Given the description of an element on the screen output the (x, y) to click on. 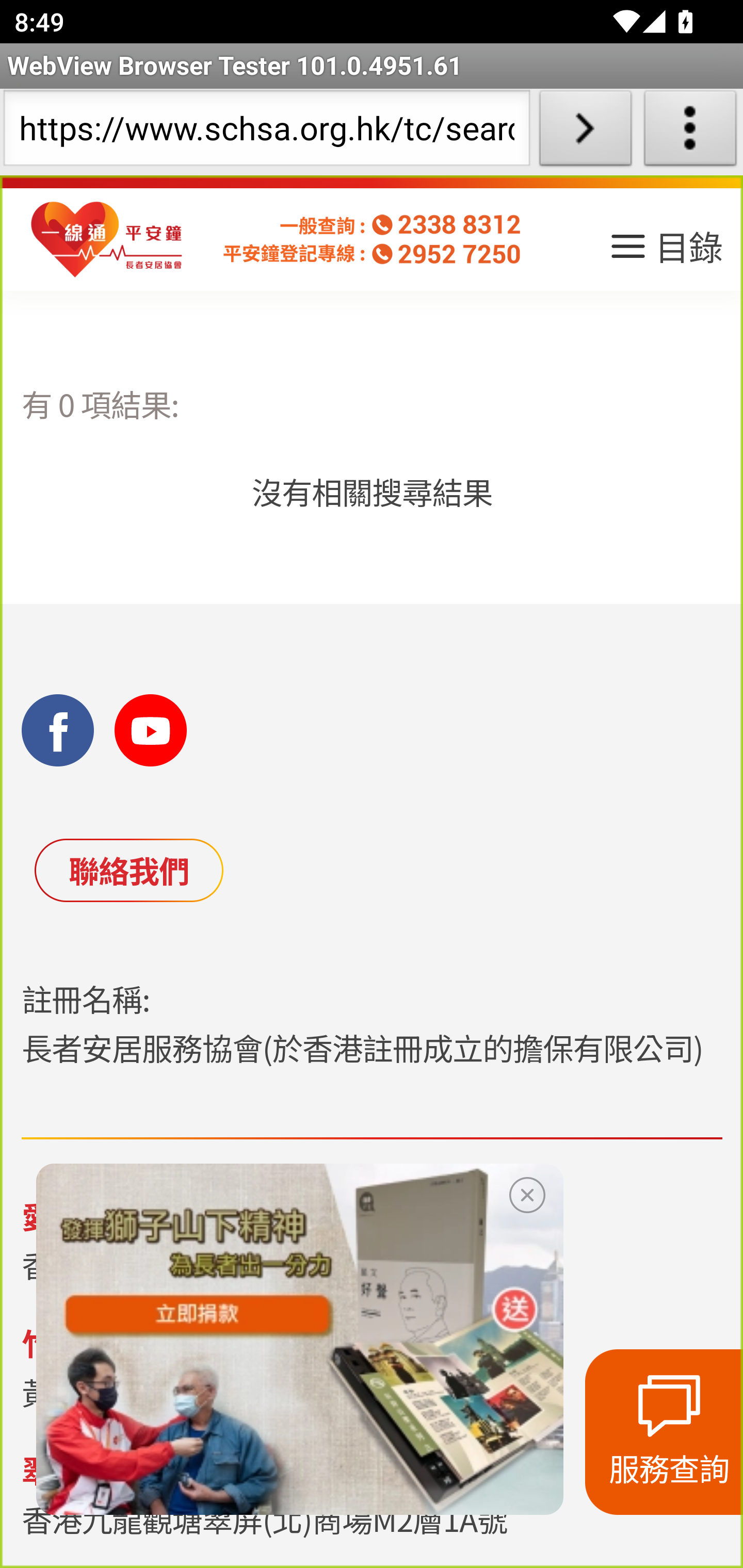
https://www.schsa.org.hk/tc/search?q=Knicks (266, 132)
Load URL (585, 132)
About WebView (690, 132)
homepage (107, 240)
目錄 (665, 252)
Facebook (58, 729)
YouTube (150, 729)
聯絡我們 (127, 870)
site.close (526, 1191)
服務查詢 (664, 1432)
